Given the description of an element on the screen output the (x, y) to click on. 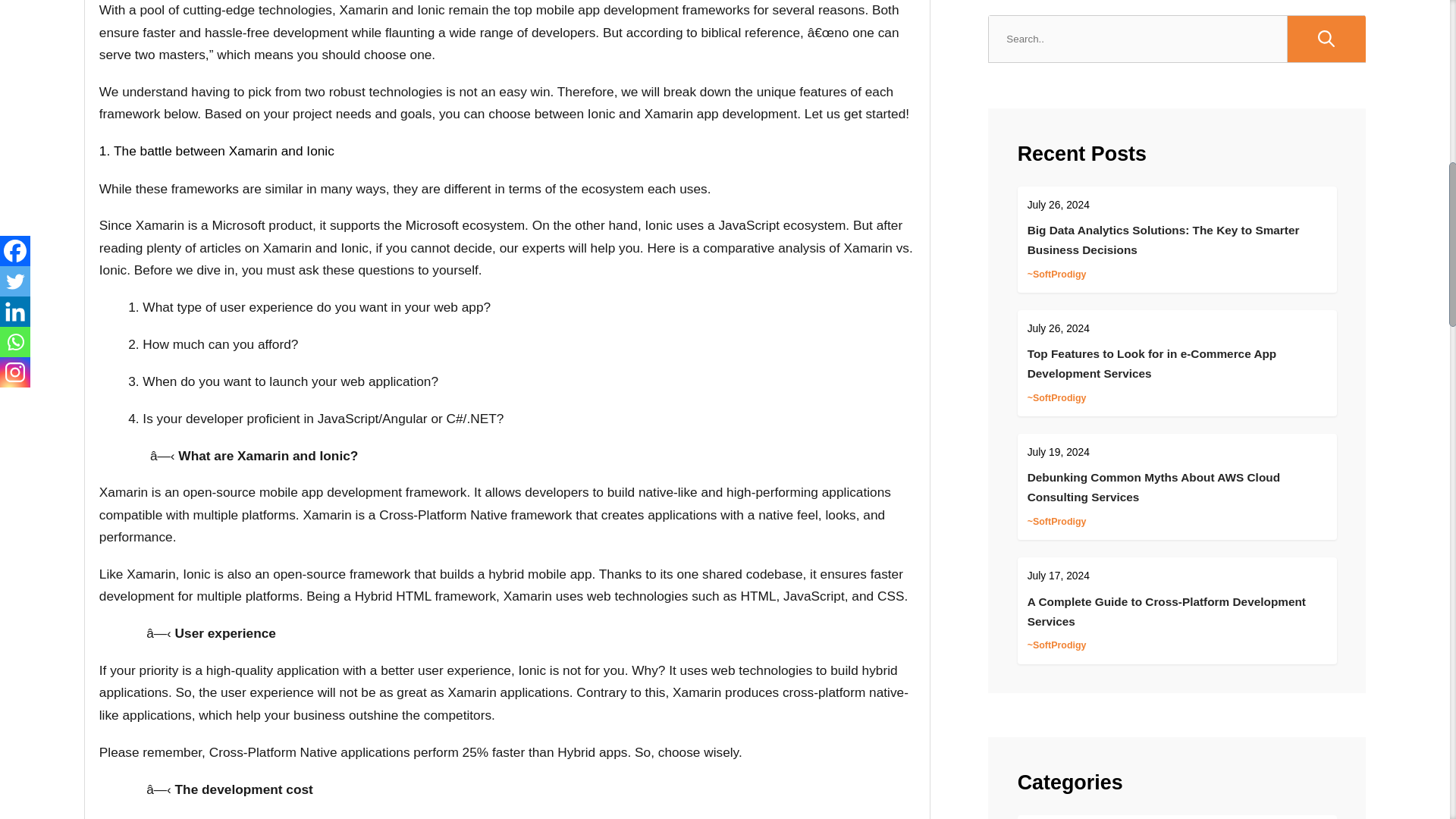
Xamarin app development (721, 113)
